Given the description of an element on the screen output the (x, y) to click on. 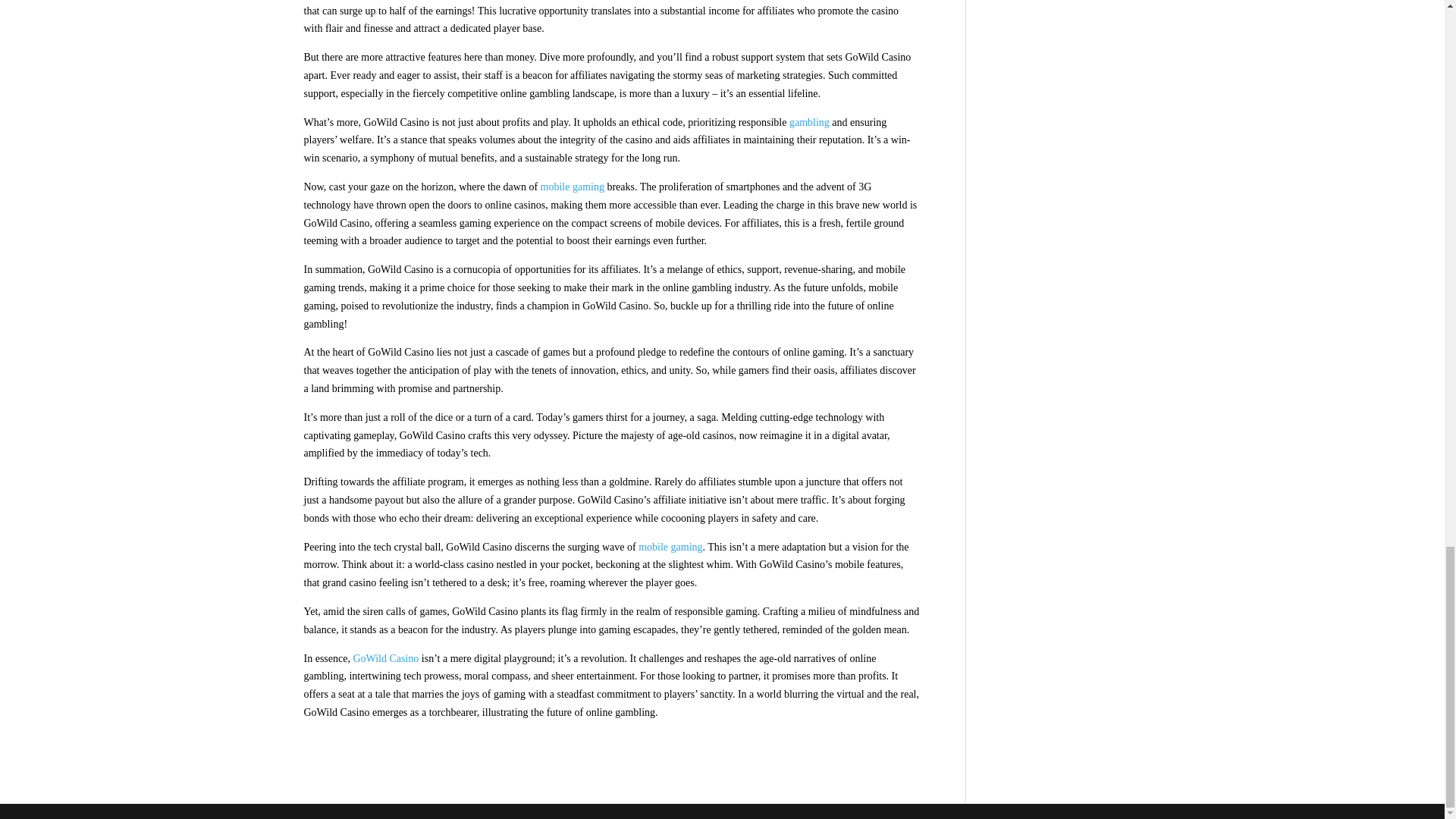
GoWild Casino (385, 658)
mobile gaming (572, 186)
mobile gaming (670, 546)
gambling (810, 122)
